Given the description of an element on the screen output the (x, y) to click on. 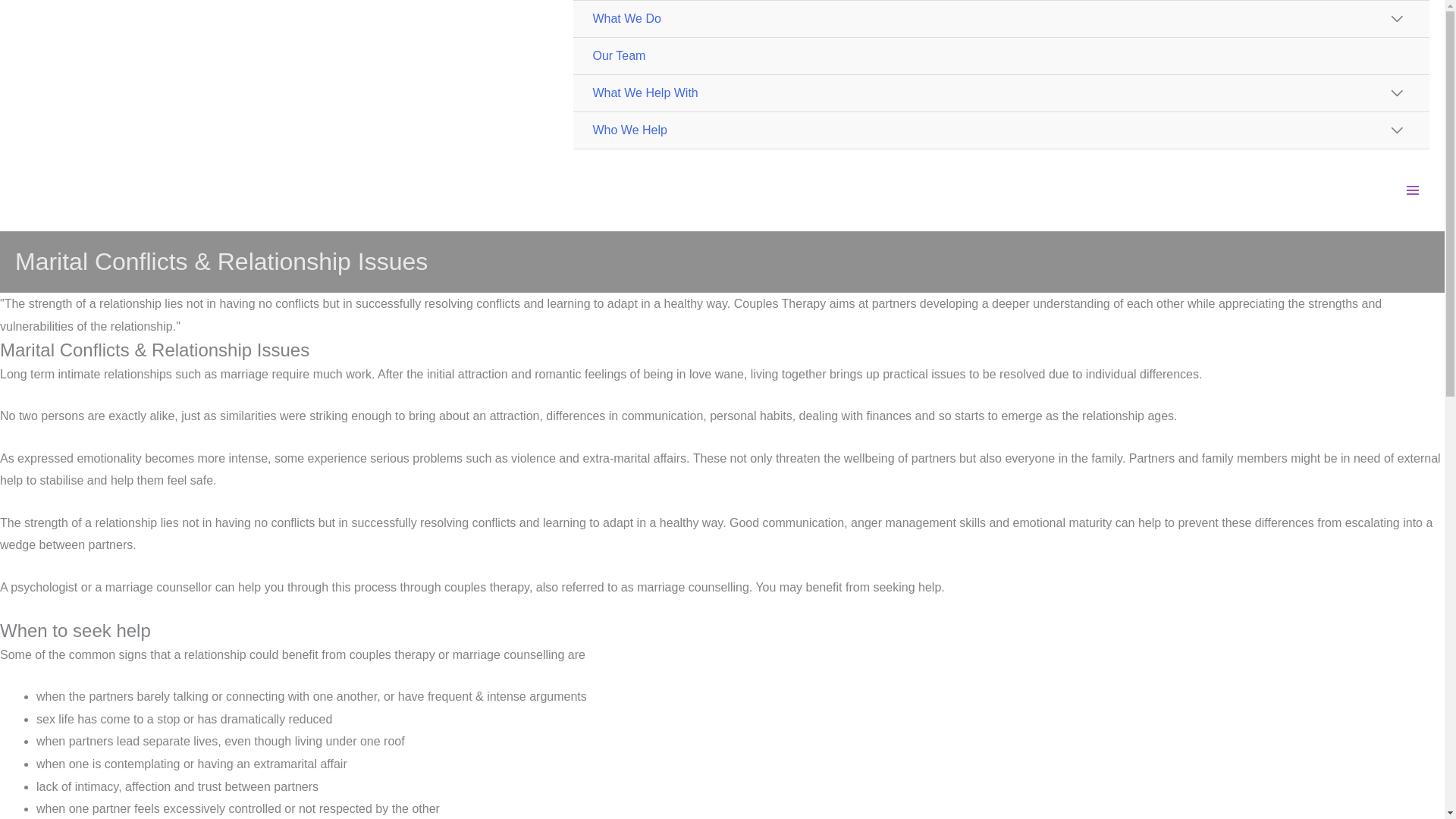
Our Team (1001, 56)
Main Menu (1412, 190)
What We Do (1001, 18)
What We Help With (1001, 93)
Menu Toggle (1395, 93)
Menu Toggle (1395, 19)
Who We Help (1001, 130)
Menu Toggle (1395, 130)
